Given the description of an element on the screen output the (x, y) to click on. 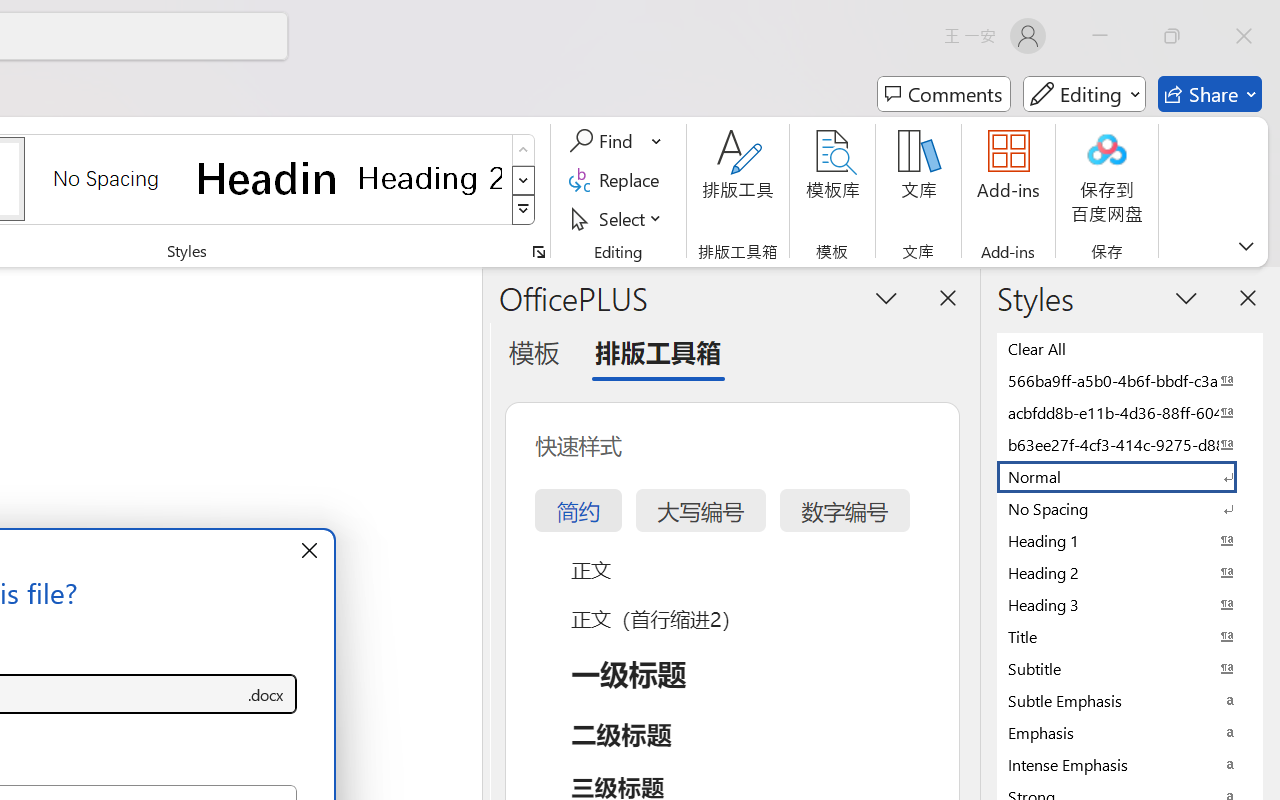
Heading 2 (429, 178)
Intense Emphasis (1130, 764)
acbfdd8b-e11b-4d36-88ff-6049b138f862 (1130, 412)
